Given the description of an element on the screen output the (x, y) to click on. 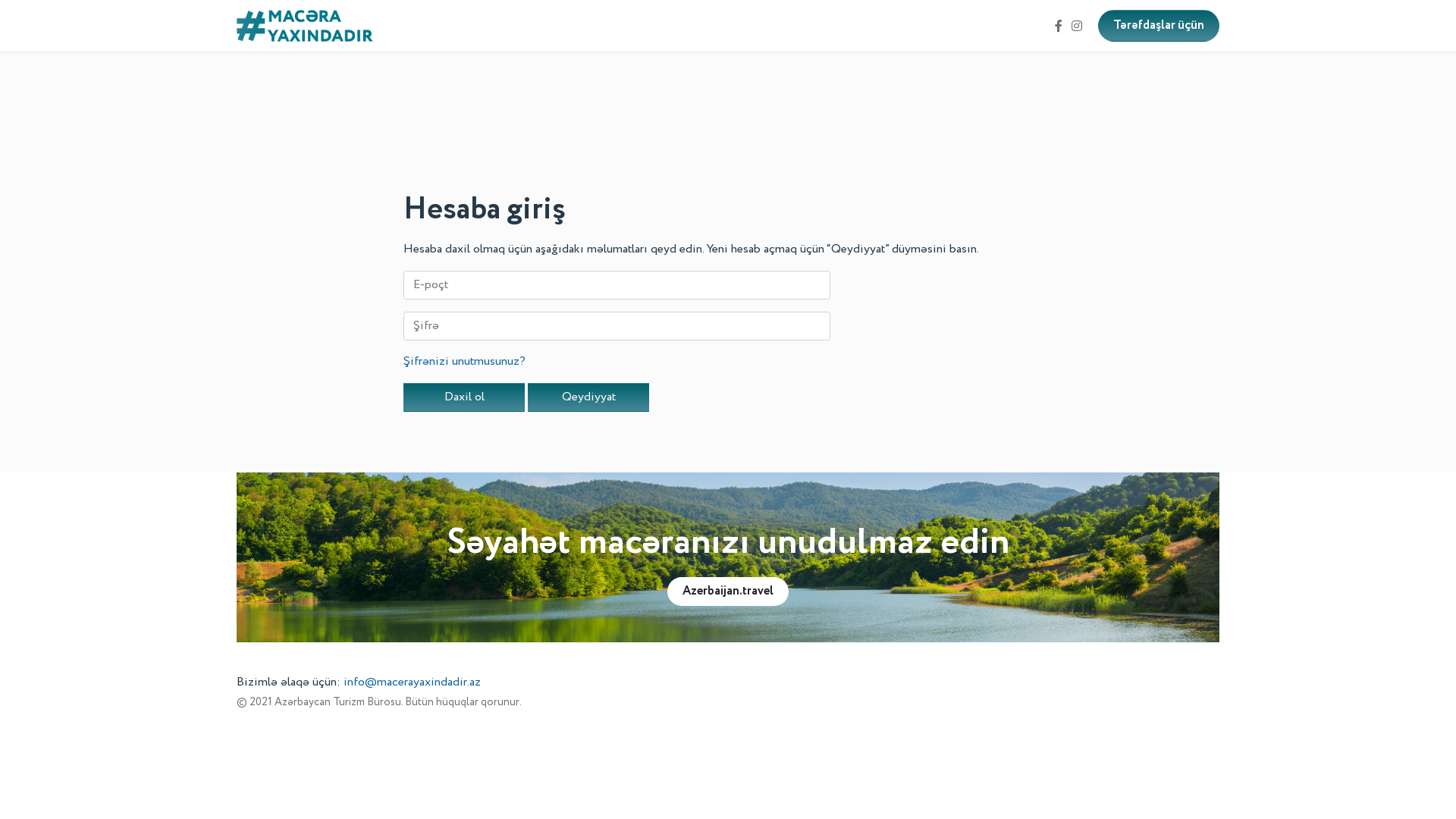
Qeydiyyat Element type: text (588, 396)
Daxil ol Element type: text (463, 396)
info@macerayaxindadir.az Element type: text (411, 681)
Azerbaijan.travel Element type: text (727, 591)
